Given the description of an element on the screen output the (x, y) to click on. 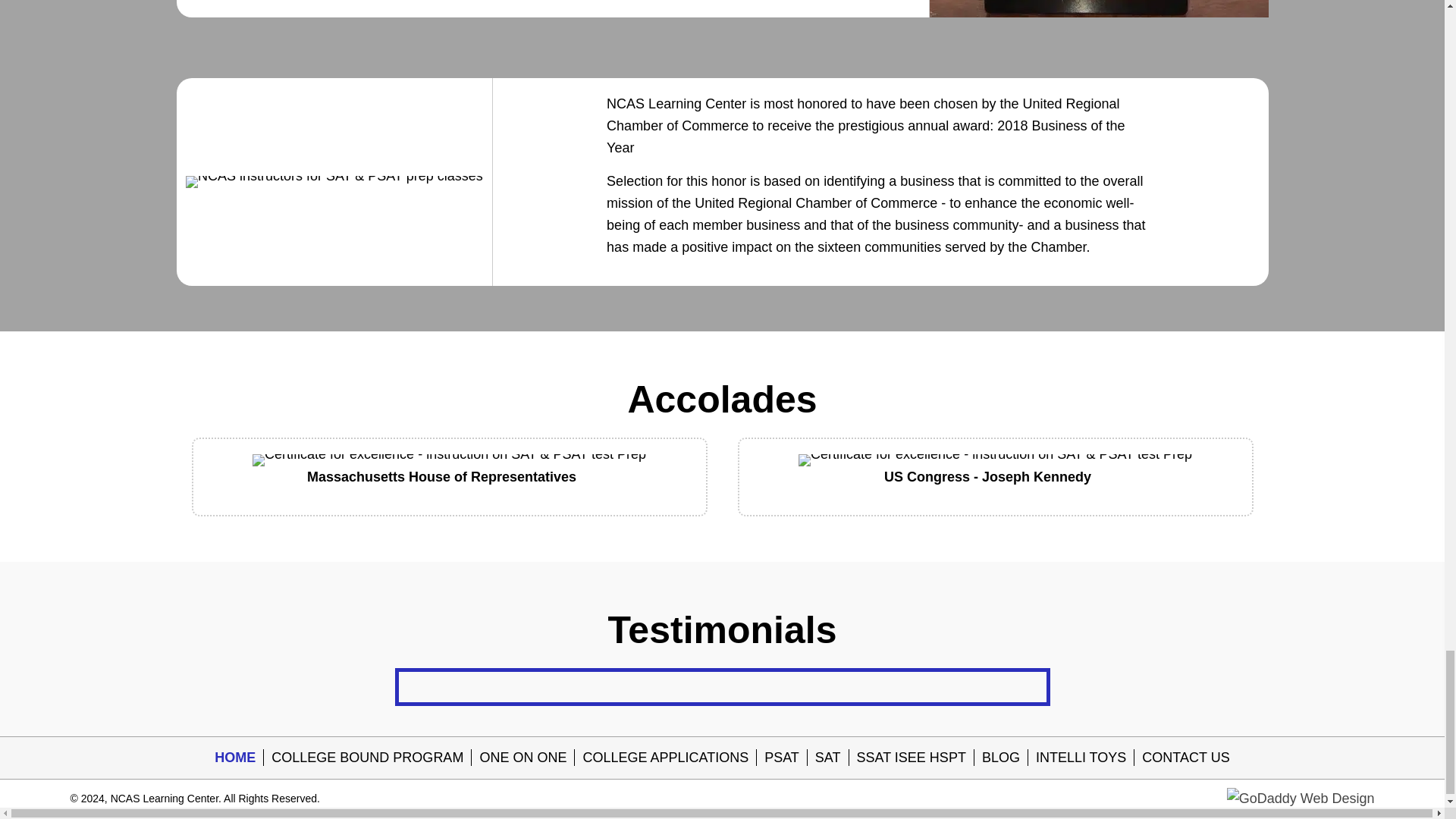
ONE ON ONE (522, 757)
CONTACT US (1185, 757)
NCAS LEARNING CENTER (334, 182)
COLLEGE APPLICATIONS (665, 757)
SAT (828, 757)
INTELLI TOYS (1080, 757)
BLOG (1000, 757)
COLLEGE BOUND PROGRAM (366, 757)
PSAT (781, 757)
NCAS LEARNING CENTER (994, 460)
